Given the description of an element on the screen output the (x, y) to click on. 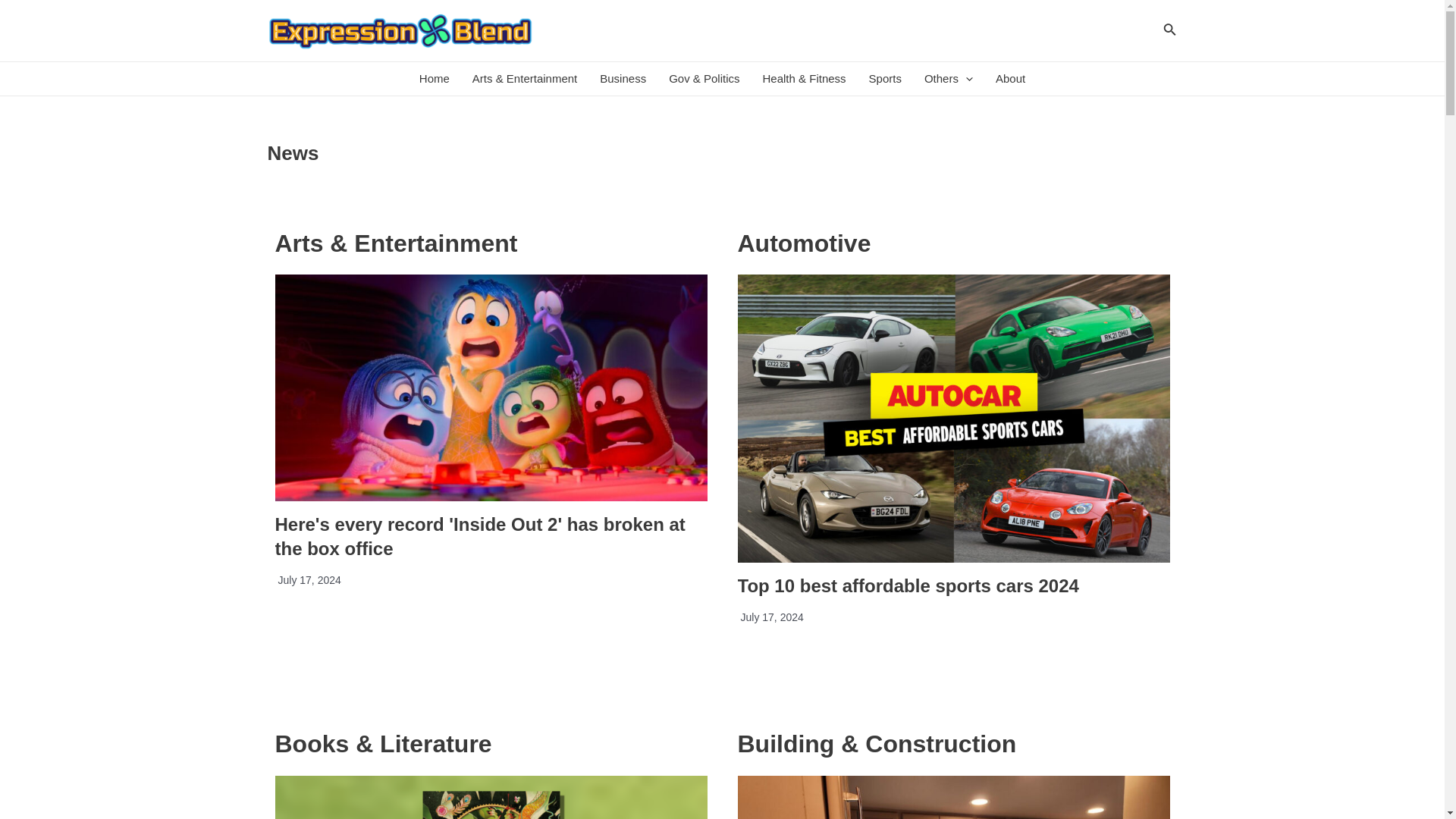
Others (948, 78)
About (1010, 78)
Home (434, 78)
Business (623, 78)
Sports (884, 78)
